Given the description of an element on the screen output the (x, y) to click on. 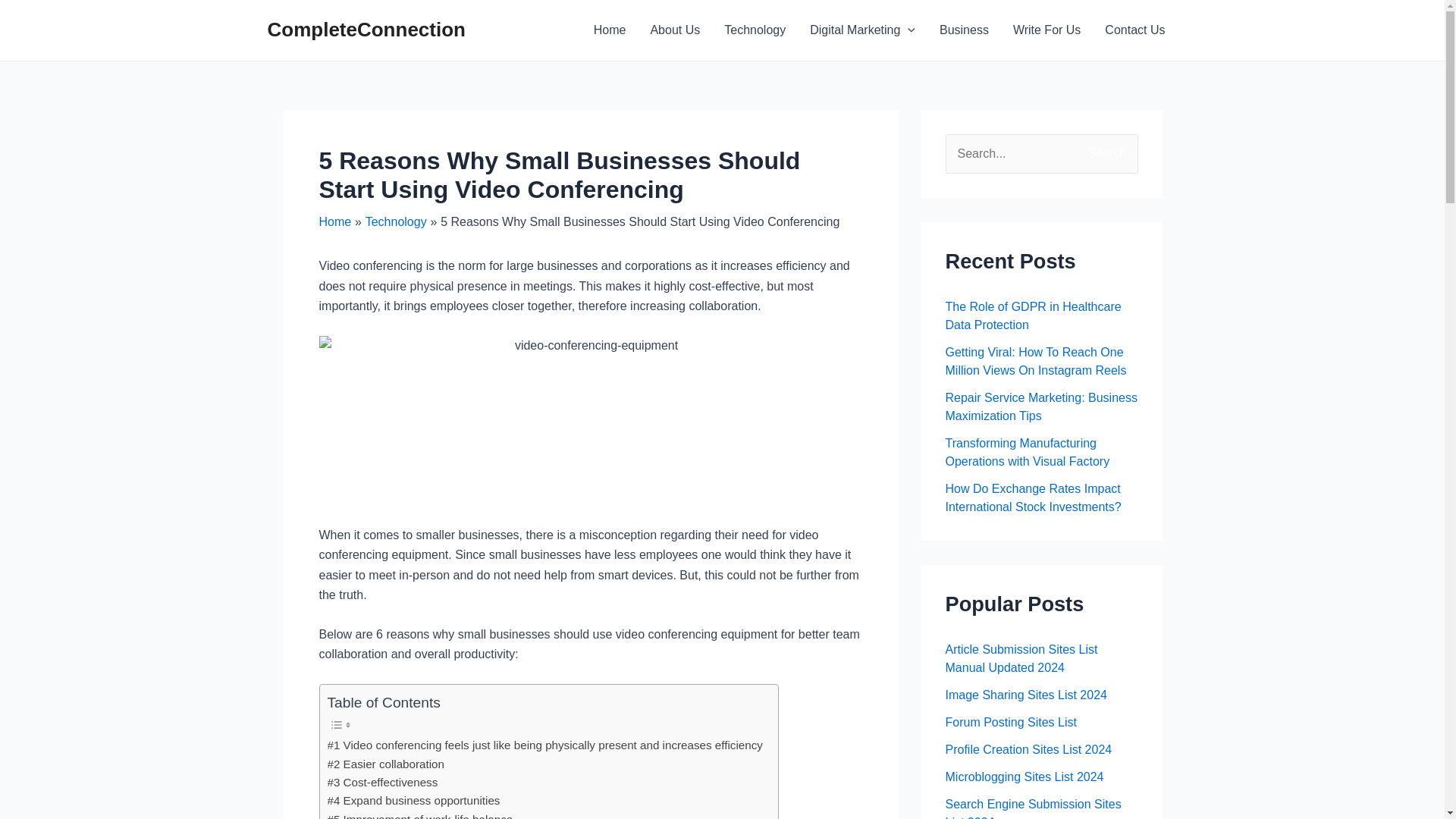
Home (609, 30)
Write For Us (1047, 30)
Technology (395, 221)
Digital Marketing (862, 30)
Contact Us (1134, 30)
CompleteConnection (365, 29)
Search (1120, 150)
Business (964, 30)
Home (334, 221)
Technology (754, 30)
